Given the description of an element on the screen output the (x, y) to click on. 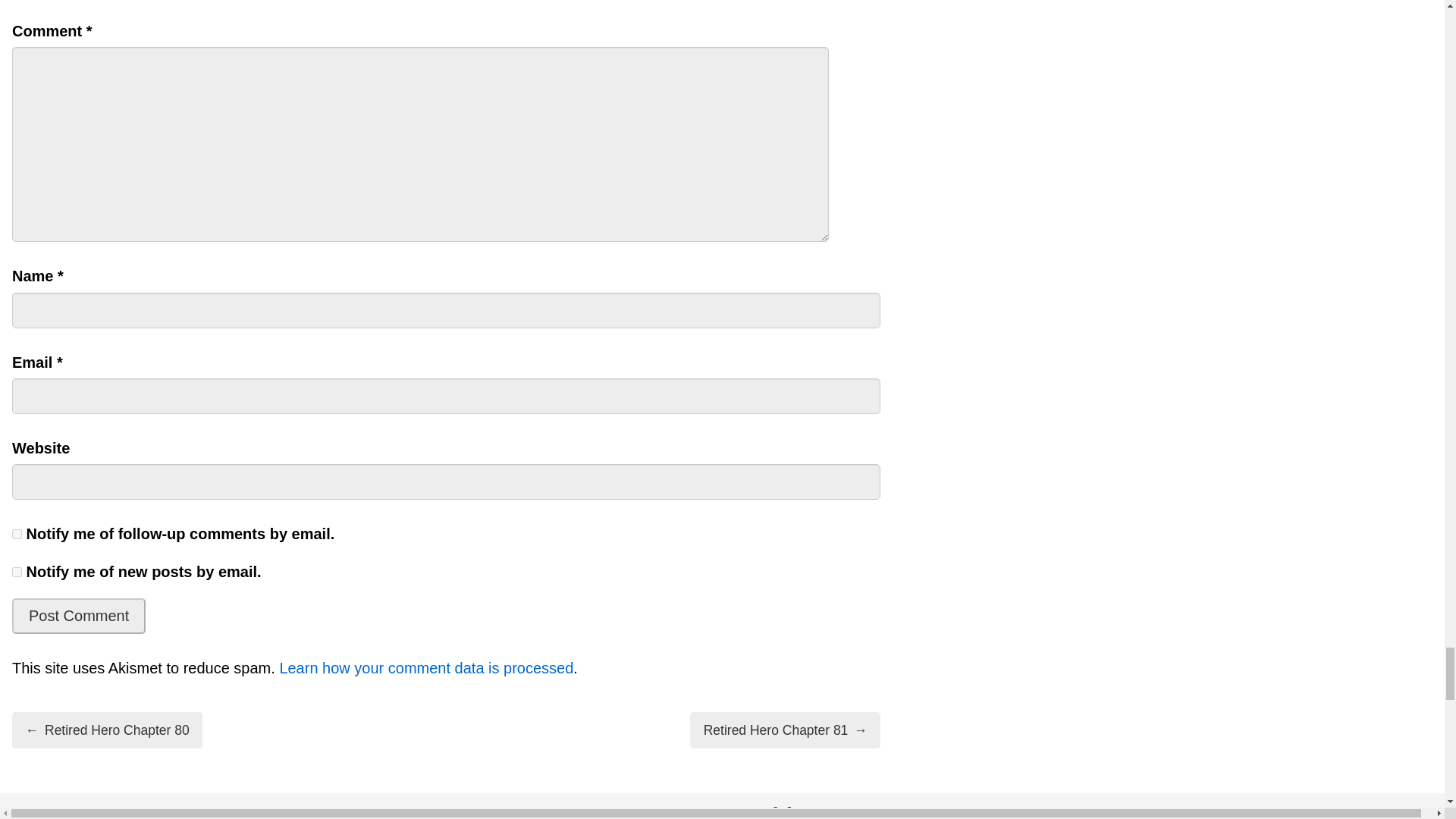
subscribe (16, 572)
Post Comment (78, 615)
subscribe (16, 533)
Learn how your comment data is processed (426, 668)
Post Comment (78, 615)
